Given the description of an element on the screen output the (x, y) to click on. 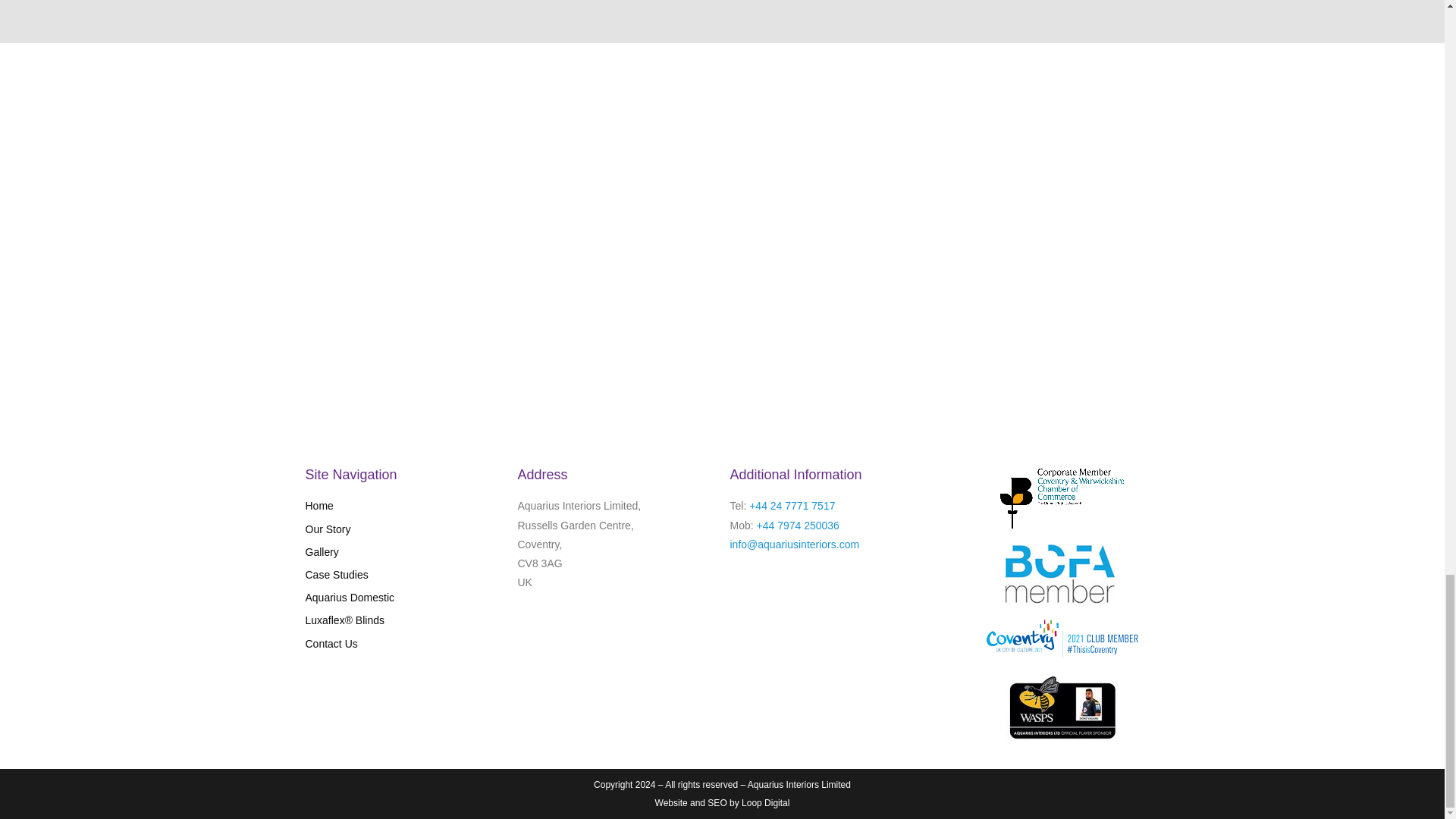
Aquarius-Wasps-Player (1062, 707)
